Given the description of an element on the screen output the (x, y) to click on. 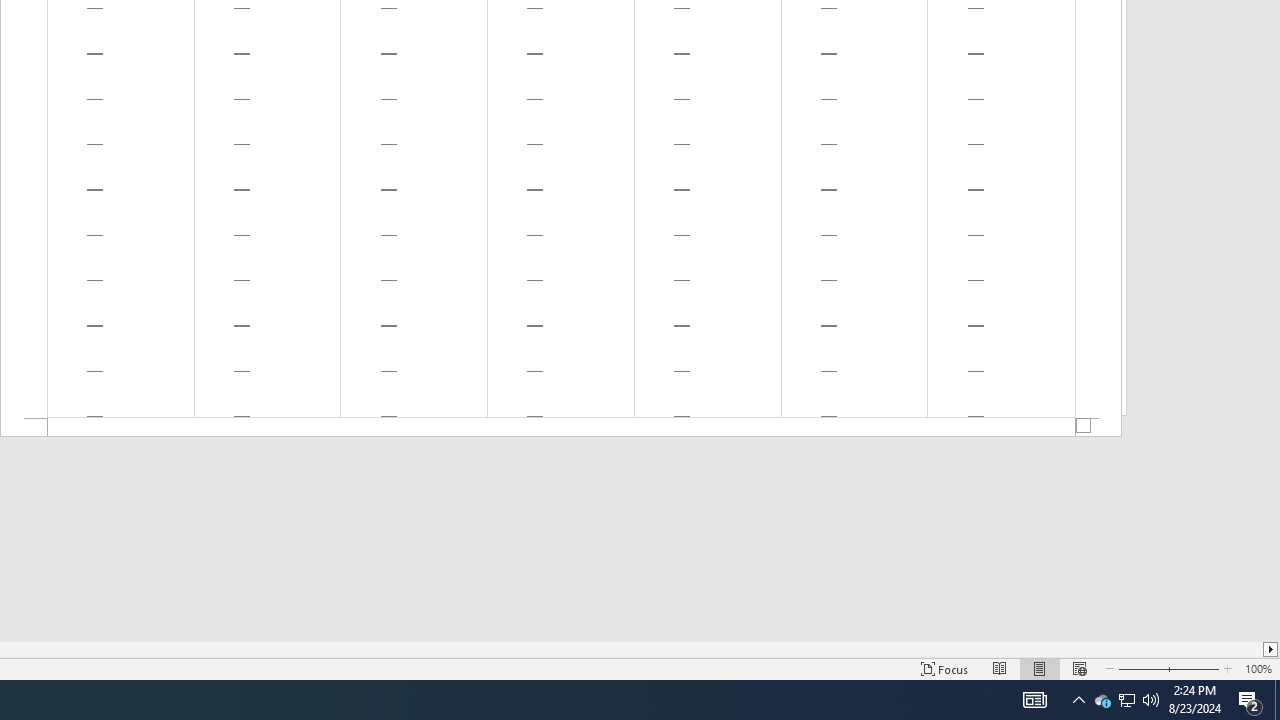
Column right (1271, 649)
